Given the description of an element on the screen output the (x, y) to click on. 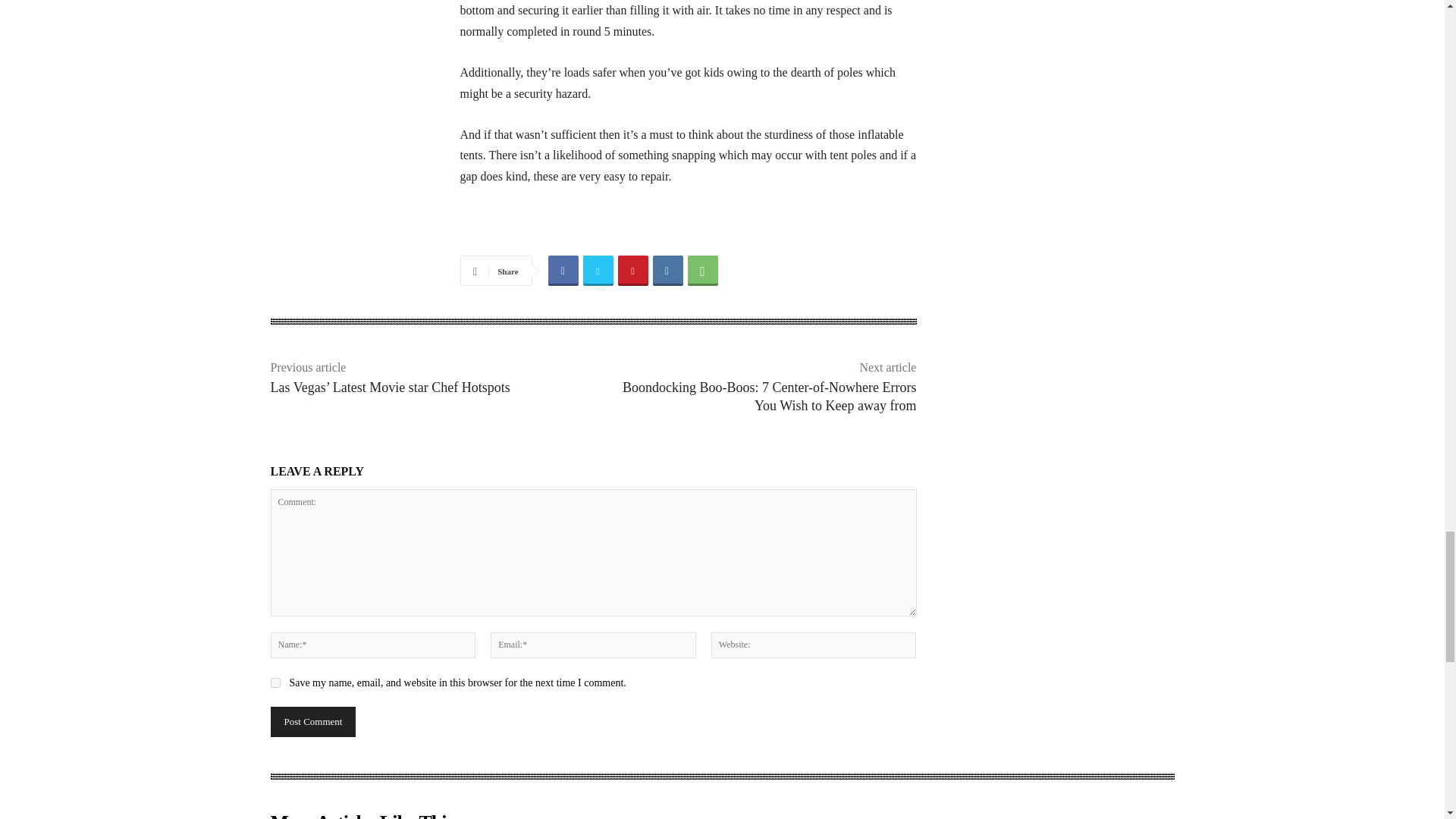
yes (274, 682)
Post Comment (312, 721)
